Given the description of an element on the screen output the (x, y) to click on. 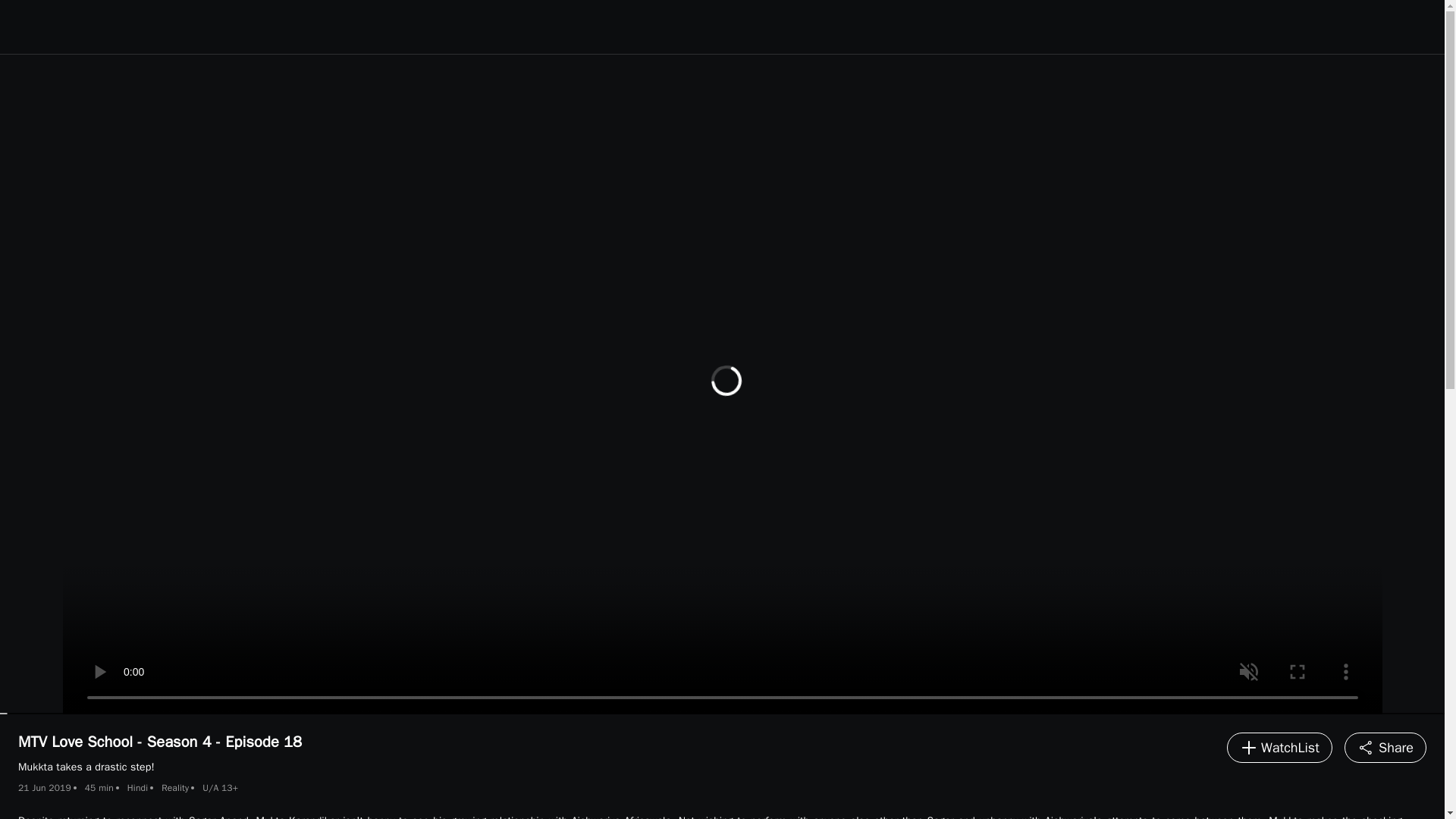
Share (1384, 747)
WatchList (1279, 747)
